Given the description of an element on the screen output the (x, y) to click on. 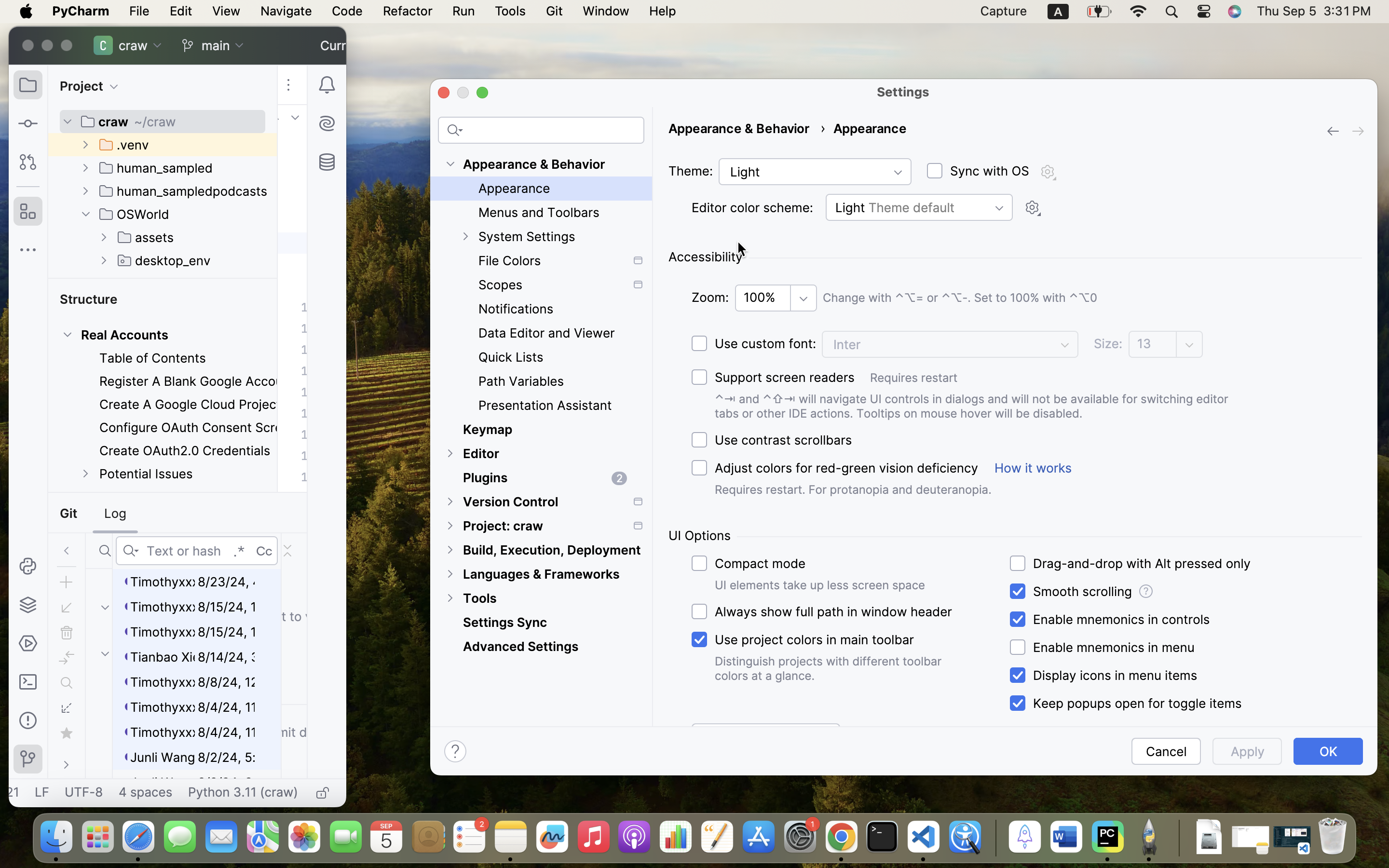
Distinguish projects with different toolbar colors at a glance. Element type: AXTextField (830, 667)
